Given the description of an element on the screen output the (x, y) to click on. 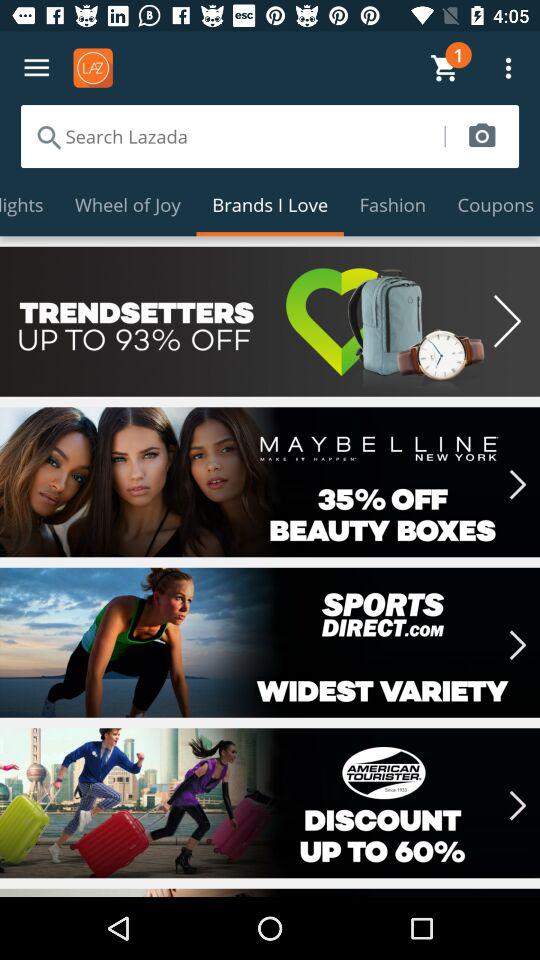
click to menu option (36, 68)
